Given the description of an element on the screen output the (x, y) to click on. 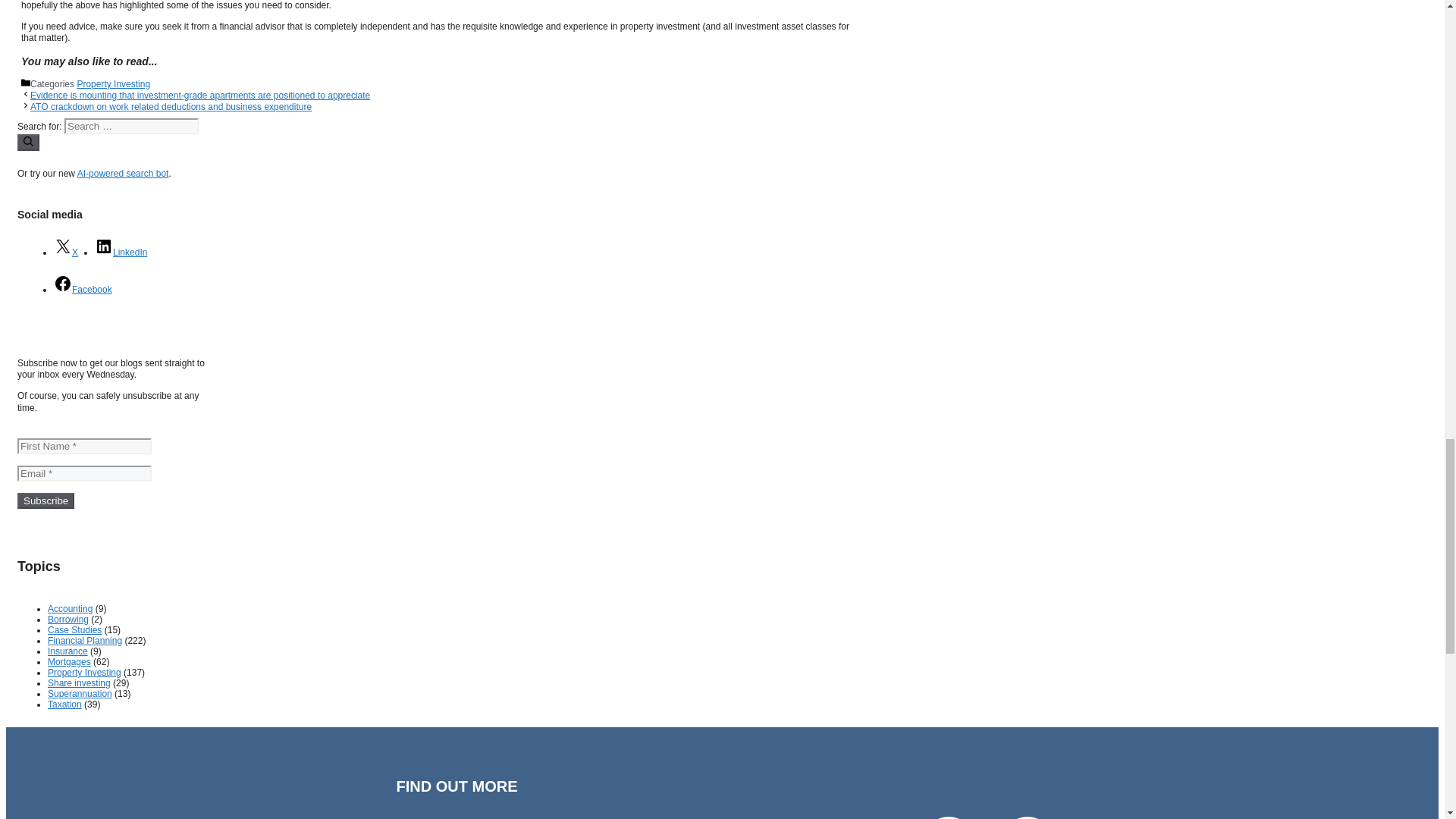
LinkedIn (120, 252)
Subscribe (45, 500)
Accounting (70, 608)
Property Investing (113, 83)
Borrowing (68, 619)
Financial Planning (85, 640)
Taxation (64, 704)
Case Studies (74, 629)
Property Investing (84, 672)
X (65, 252)
Search for: (131, 125)
Superannuation (80, 693)
Insurance (67, 651)
